Given the description of an element on the screen output the (x, y) to click on. 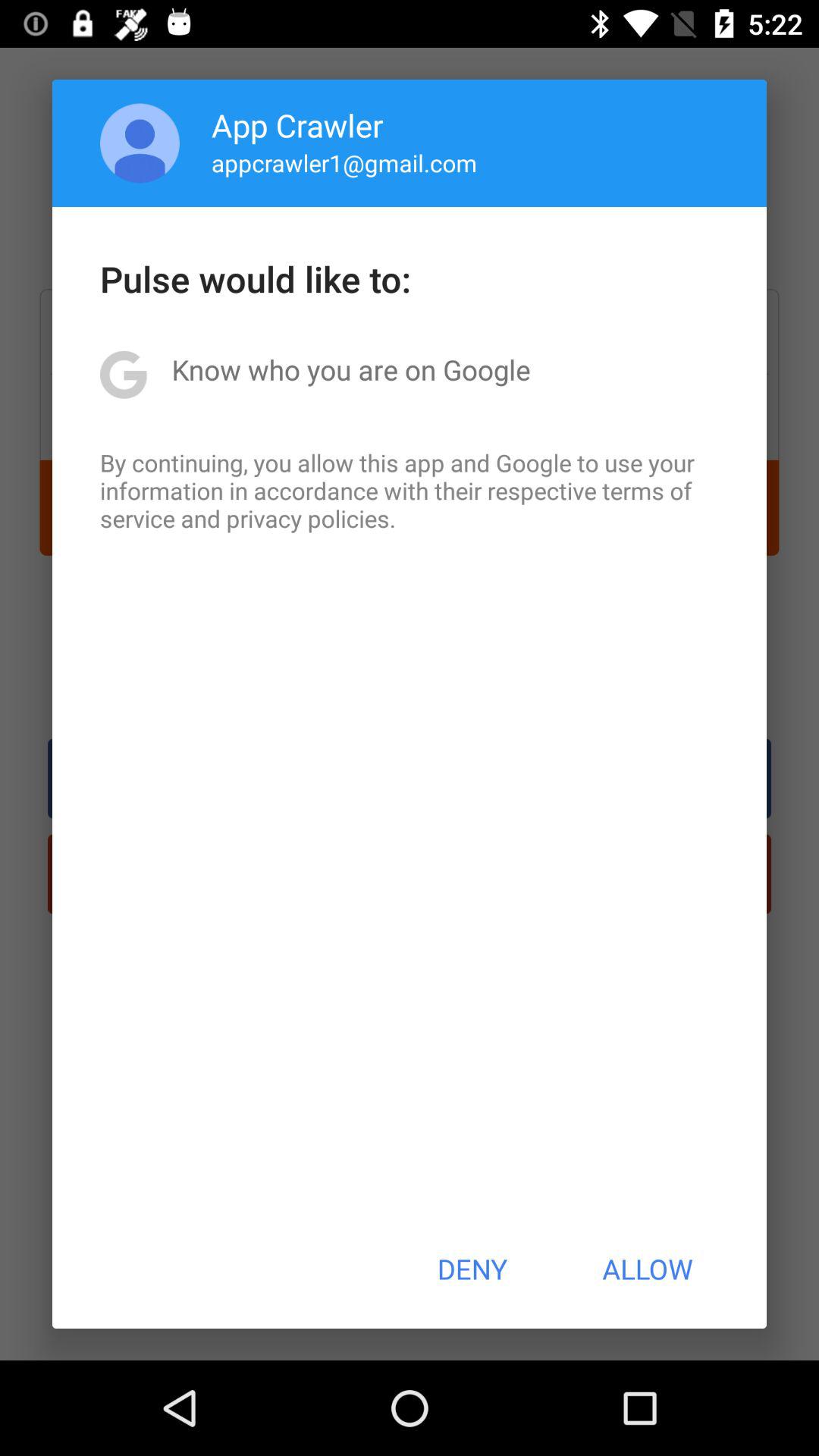
open the icon below the by continuing you icon (471, 1268)
